Given the description of an element on the screen output the (x, y) to click on. 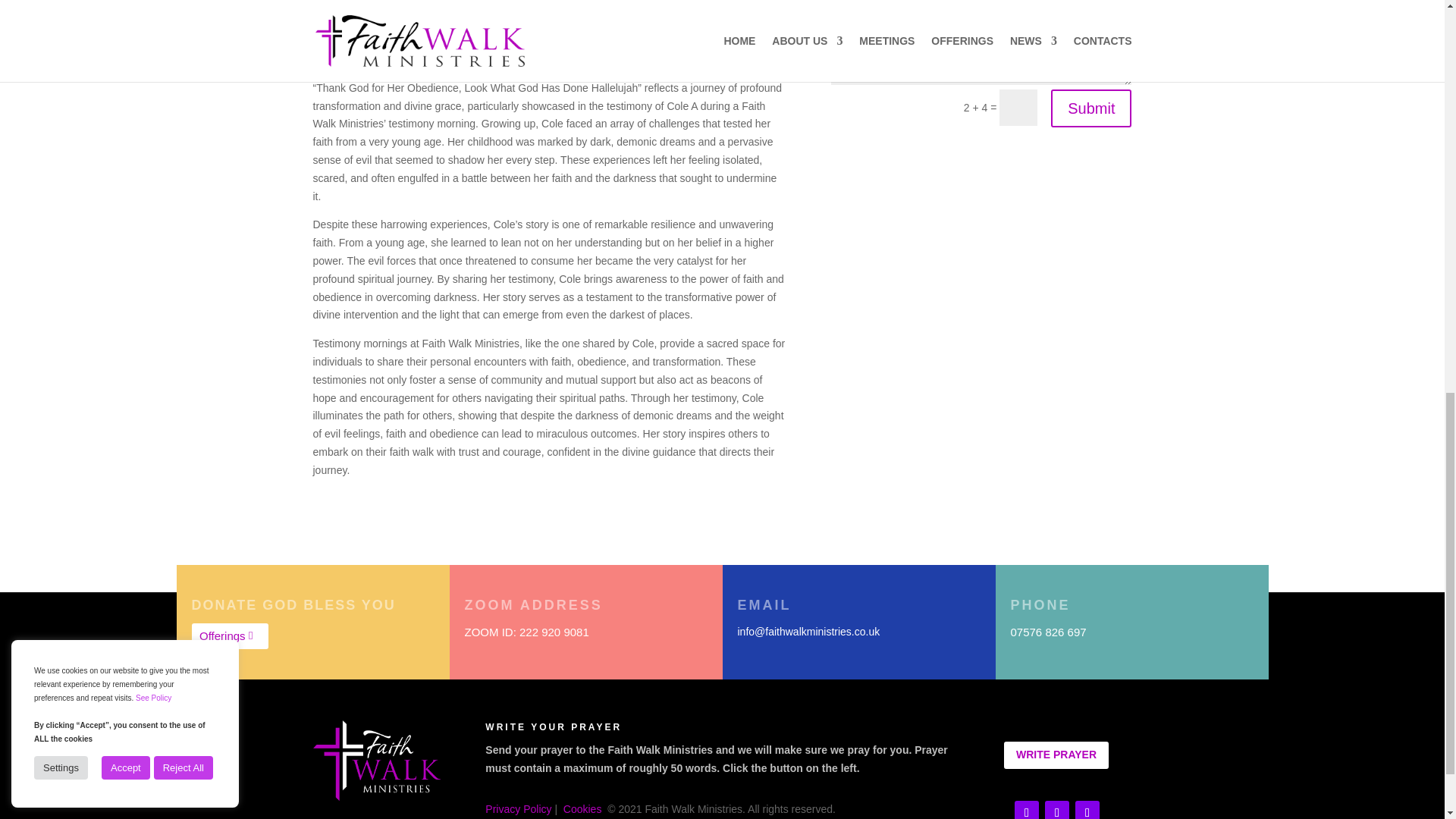
Offerings (228, 636)
Cookies (582, 808)
Privacy Policy (517, 808)
WRITE PRAYER (1056, 755)
Follow on Youtube (1026, 809)
Follow on TikTok (1056, 809)
logo-v3-bwsq (376, 760)
Submit (1091, 108)
Follow on Instagram (1087, 809)
